Given the description of an element on the screen output the (x, y) to click on. 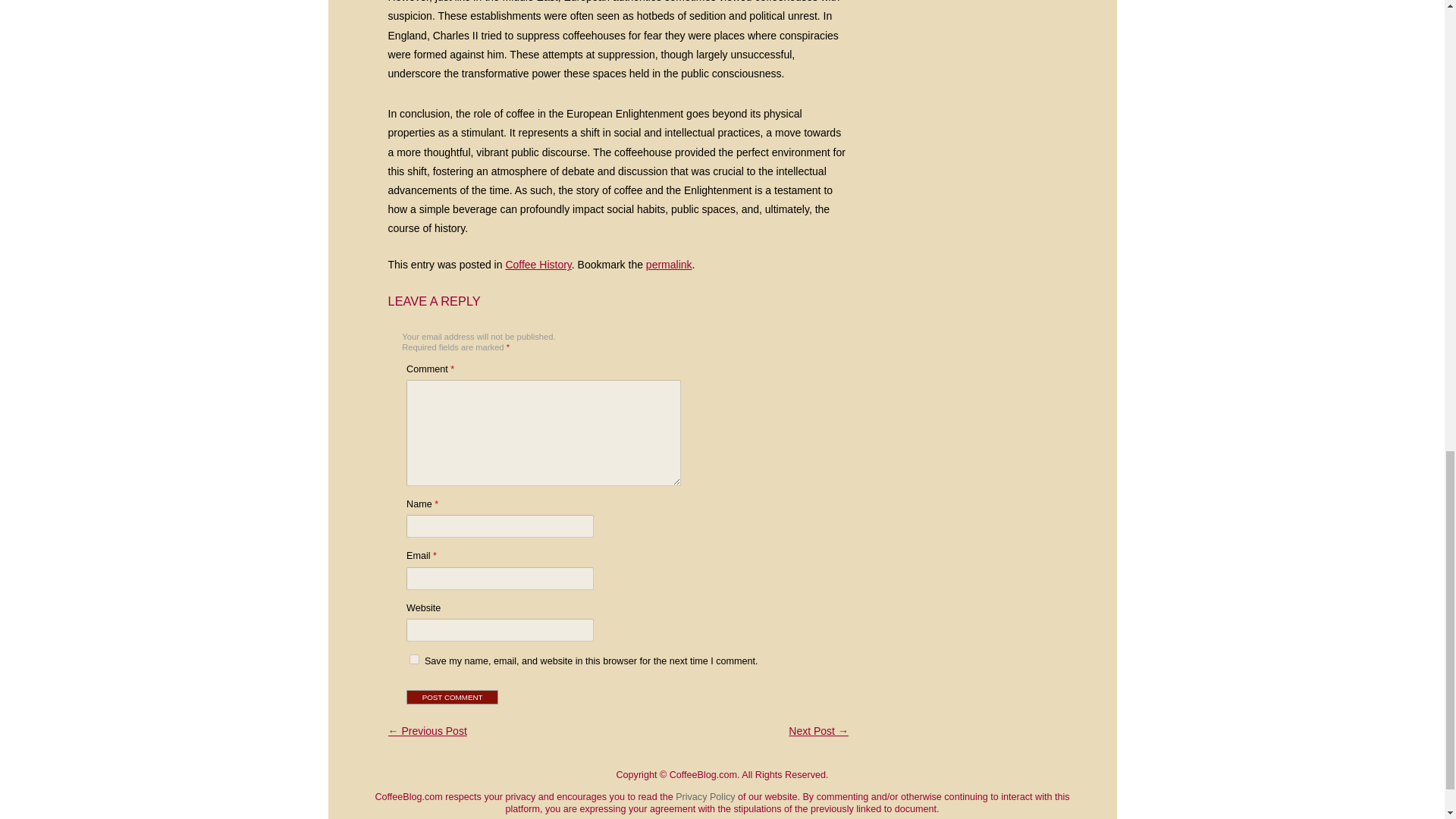
permalink (669, 264)
Permalink to Coffee and the Dawn of Enlightenment in Europe (669, 264)
Coffee History (537, 264)
Privacy Policy (705, 796)
Post Comment (451, 697)
Post Comment (451, 697)
yes (414, 659)
